Given the description of an element on the screen output the (x, y) to click on. 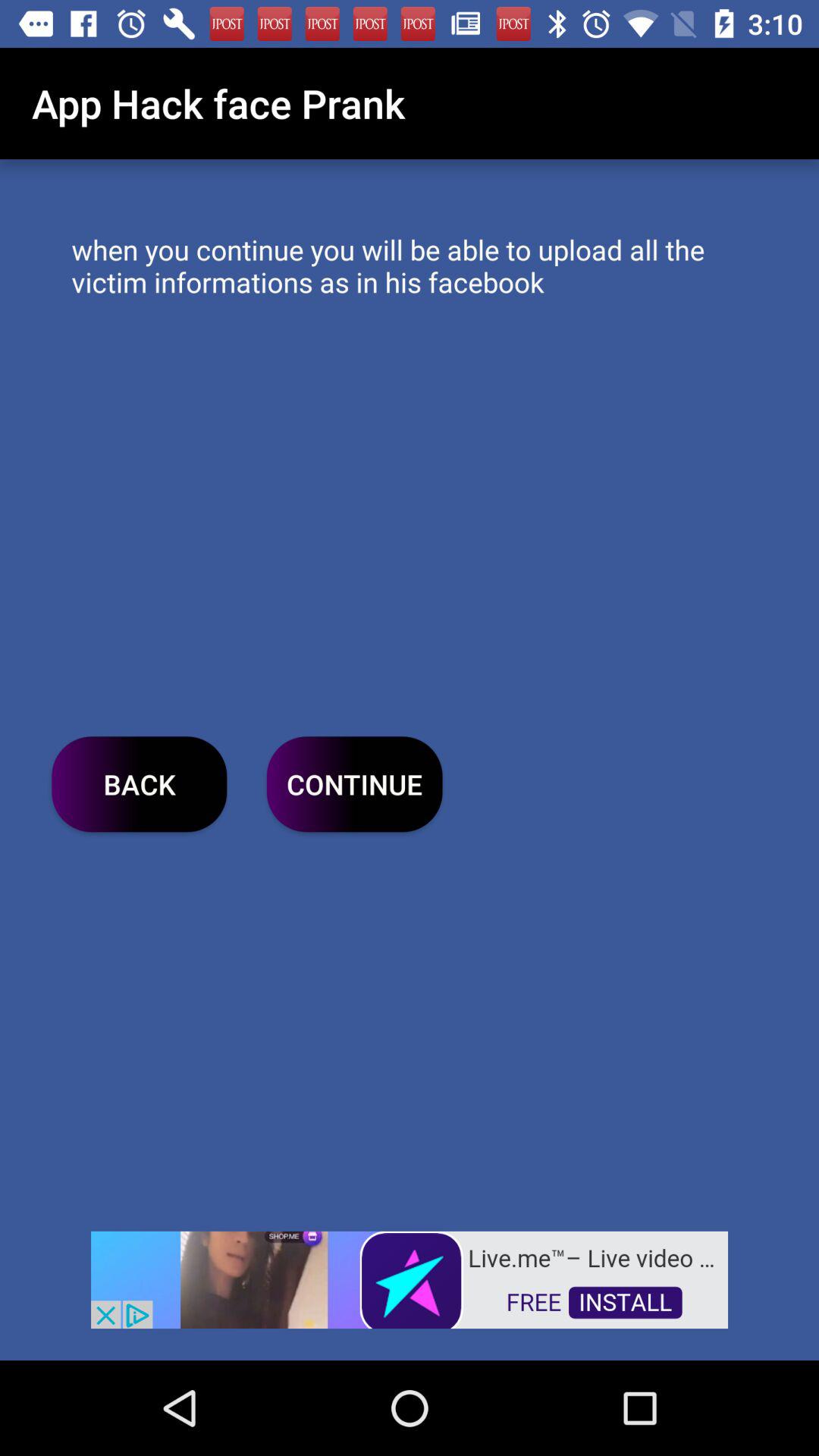
advertisement (409, 1278)
